Given the description of an element on the screen output the (x, y) to click on. 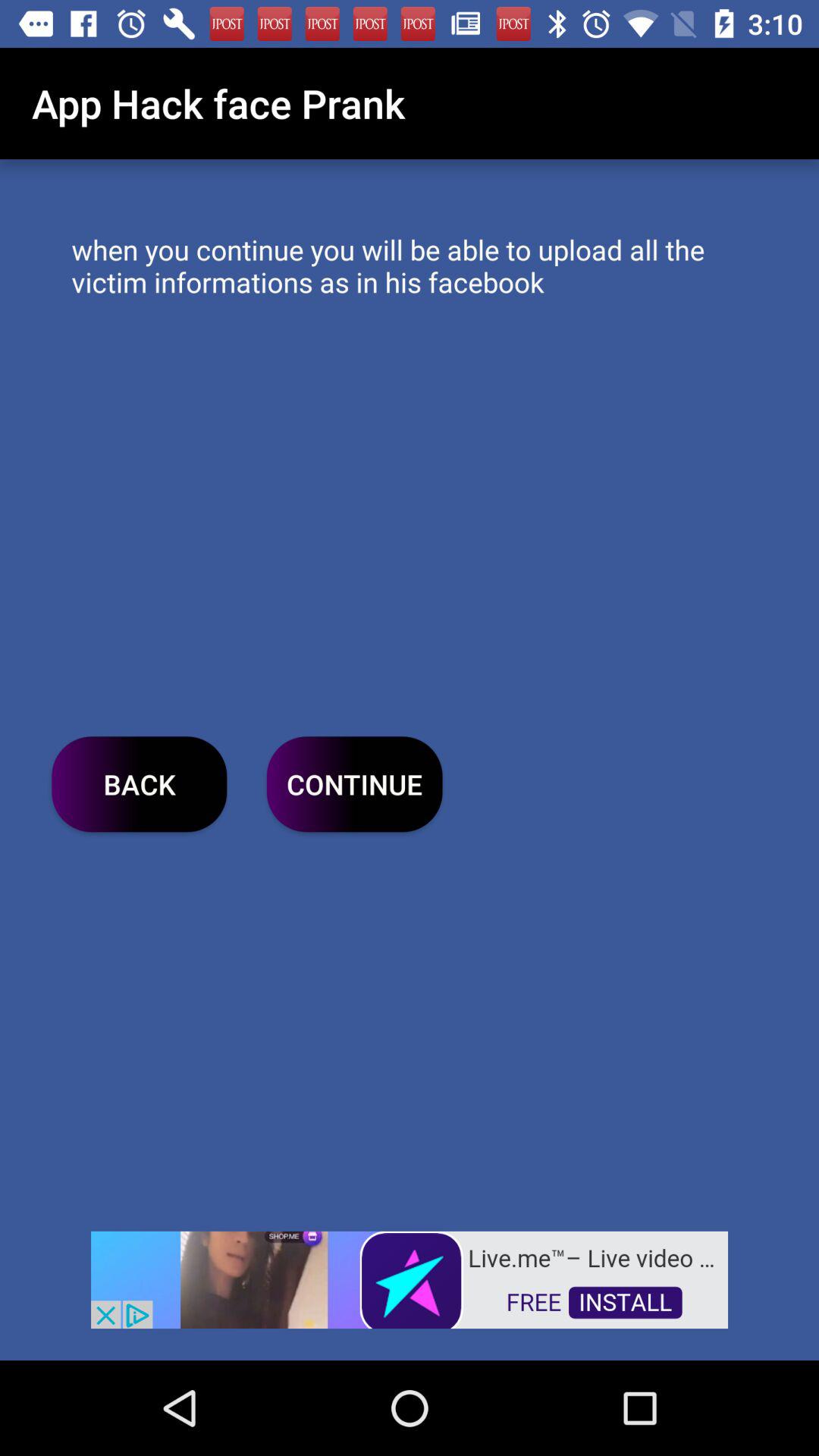
advertisement (409, 1278)
